Given the description of an element on the screen output the (x, y) to click on. 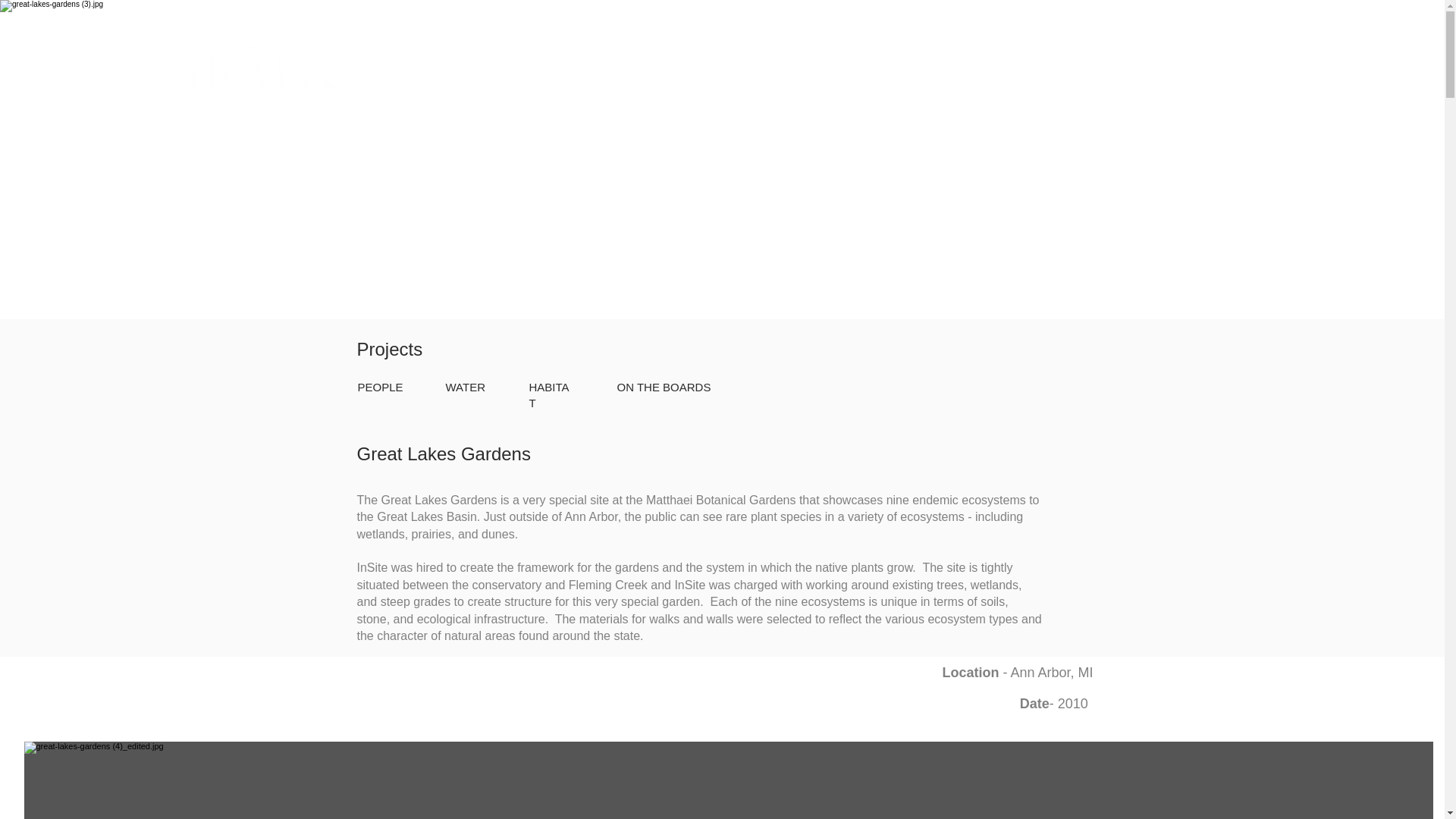
PROJECTS (1043, 60)
WATER (465, 386)
PEOPLE (380, 386)
HABITAT (549, 394)
CONTACT (1210, 60)
ON THE BOARDS (664, 386)
STUDIO (1128, 60)
Projects (389, 349)
